Given the description of an element on the screen output the (x, y) to click on. 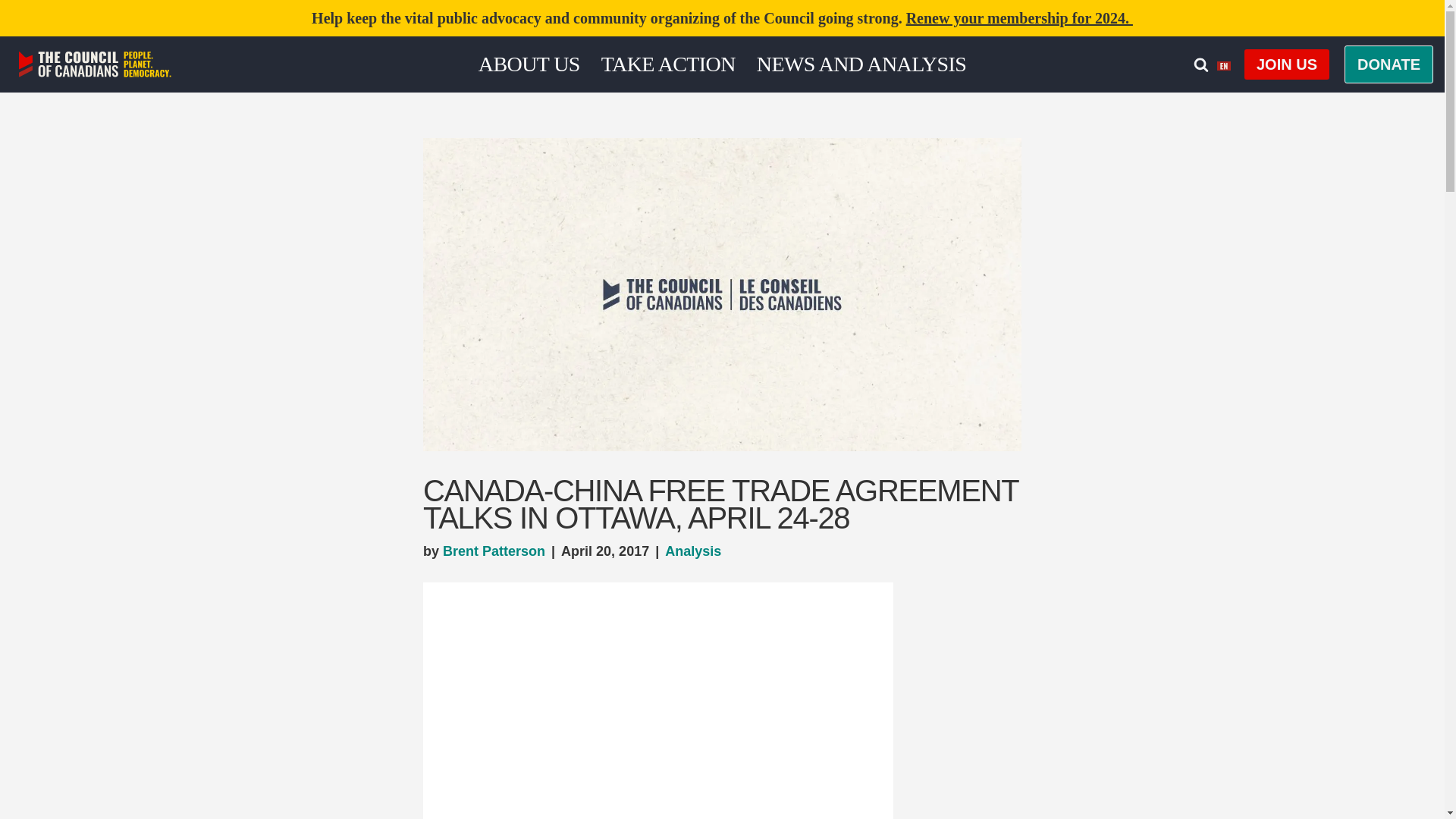
Renew your membership for 2024.  (1018, 17)
Skip to content (11, 31)
DONATE (1387, 64)
Brent Patterson (493, 550)
Posts by Brent Patterson (493, 550)
JOIN US (1286, 64)
NEWS AND ANALYSIS (861, 63)
TAKE ACTION (668, 63)
ABOUT US (529, 63)
Analysis (692, 550)
